Given the description of an element on the screen output the (x, y) to click on. 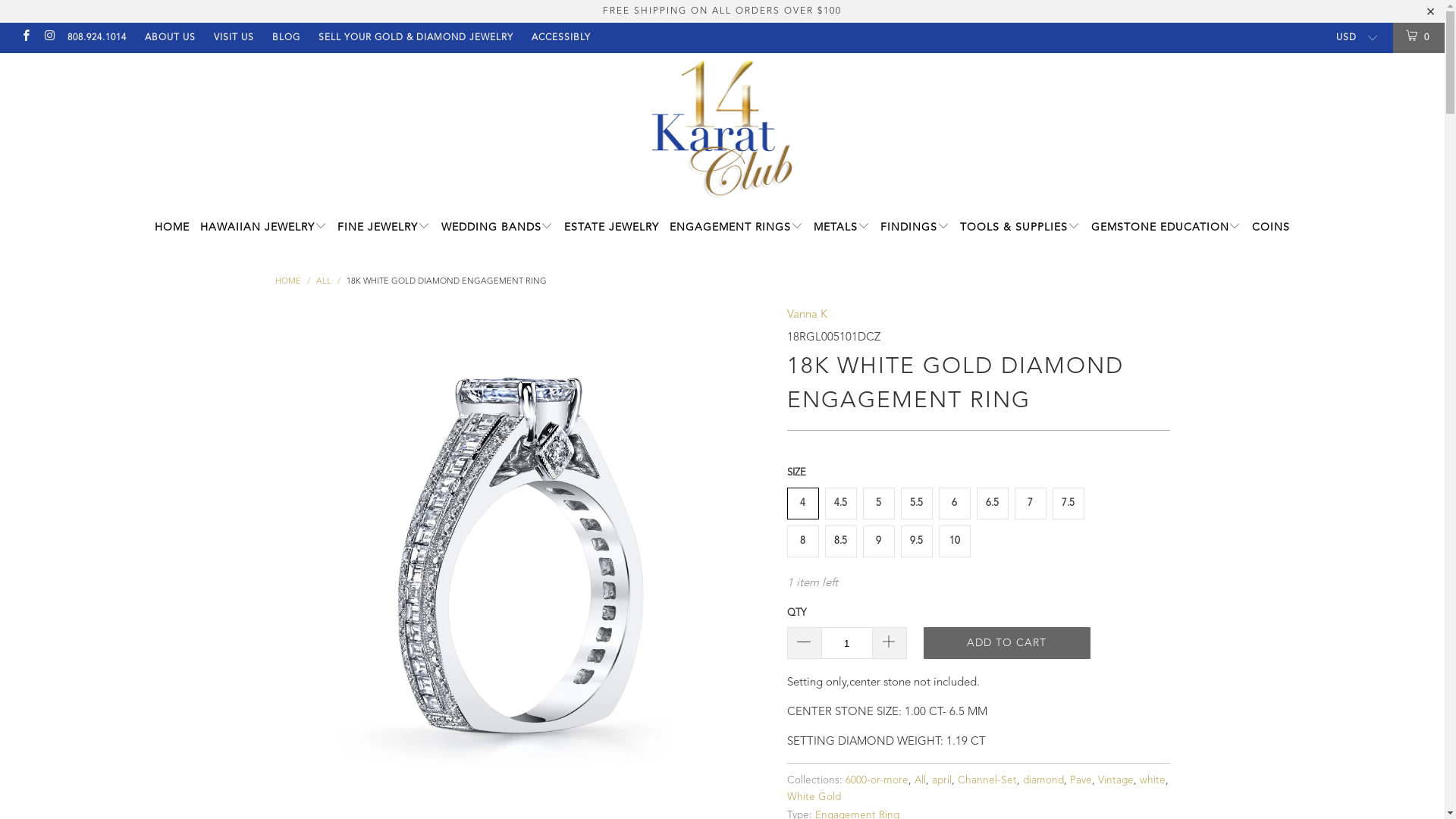
14 Karat Club on Instagram Element type: hover (48, 37)
COINS Element type: text (1270, 227)
BLOG Element type: text (285, 37)
SELL YOUR GOLD & DIAMOND JEWELRY Element type: text (415, 37)
FINDINGS Element type: text (914, 227)
Channel-Set Element type: text (986, 780)
White Gold Element type: text (813, 797)
ABOUT US Element type: text (169, 37)
HOME Element type: text (287, 281)
ESTATE JEWELRY Element type: text (611, 227)
ACCESSIBLY Element type: text (559, 37)
Pave Element type: text (1080, 780)
14 Karat Club on Facebook Element type: hover (24, 37)
diamond Element type: text (1042, 780)
HOME Element type: text (171, 227)
white Element type: text (1151, 780)
april Element type: text (940, 780)
ALL Element type: text (322, 281)
Vanna K Element type: text (807, 314)
GEMSTONE EDUCATION Element type: text (1166, 227)
6000-or-more Element type: text (875, 780)
All Element type: text (919, 780)
HAWAIIAN JEWELRY Element type: text (263, 227)
Vintage Element type: text (1115, 780)
METALS Element type: text (841, 227)
FINE JEWELRY Element type: text (383, 227)
WEDDING BANDS Element type: text (497, 227)
14 Karat Club Element type: hover (722, 129)
808.924.1014 Element type: text (95, 37)
ENGAGEMENT RINGS Element type: text (736, 227)
VISIT US Element type: text (233, 37)
ADD TO CART Element type: text (1006, 642)
0 Element type: text (1418, 37)
TOOLS & SUPPLIES Element type: text (1019, 227)
